Given the description of an element on the screen output the (x, y) to click on. 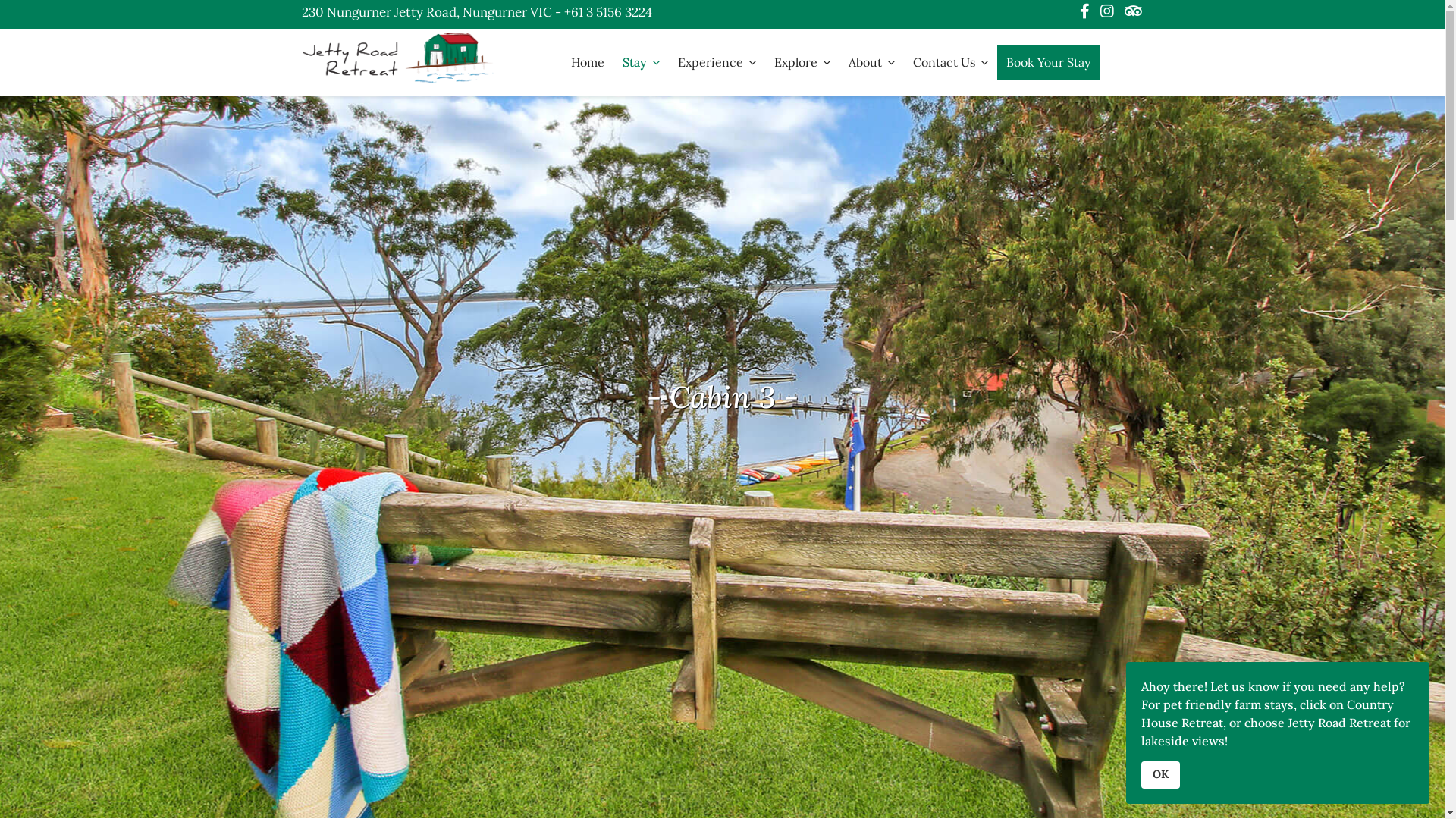
Contact Us Element type: text (950, 62)
About Element type: text (870, 62)
Explore Element type: text (801, 62)
Book Your Stay Element type: text (1047, 62)
Experience Element type: text (716, 62)
+61 3 5156 3224 Element type: text (608, 11)
Stay Element type: text (640, 62)
Home Element type: text (586, 62)
OK Element type: text (1160, 774)
